Given the description of an element on the screen output the (x, y) to click on. 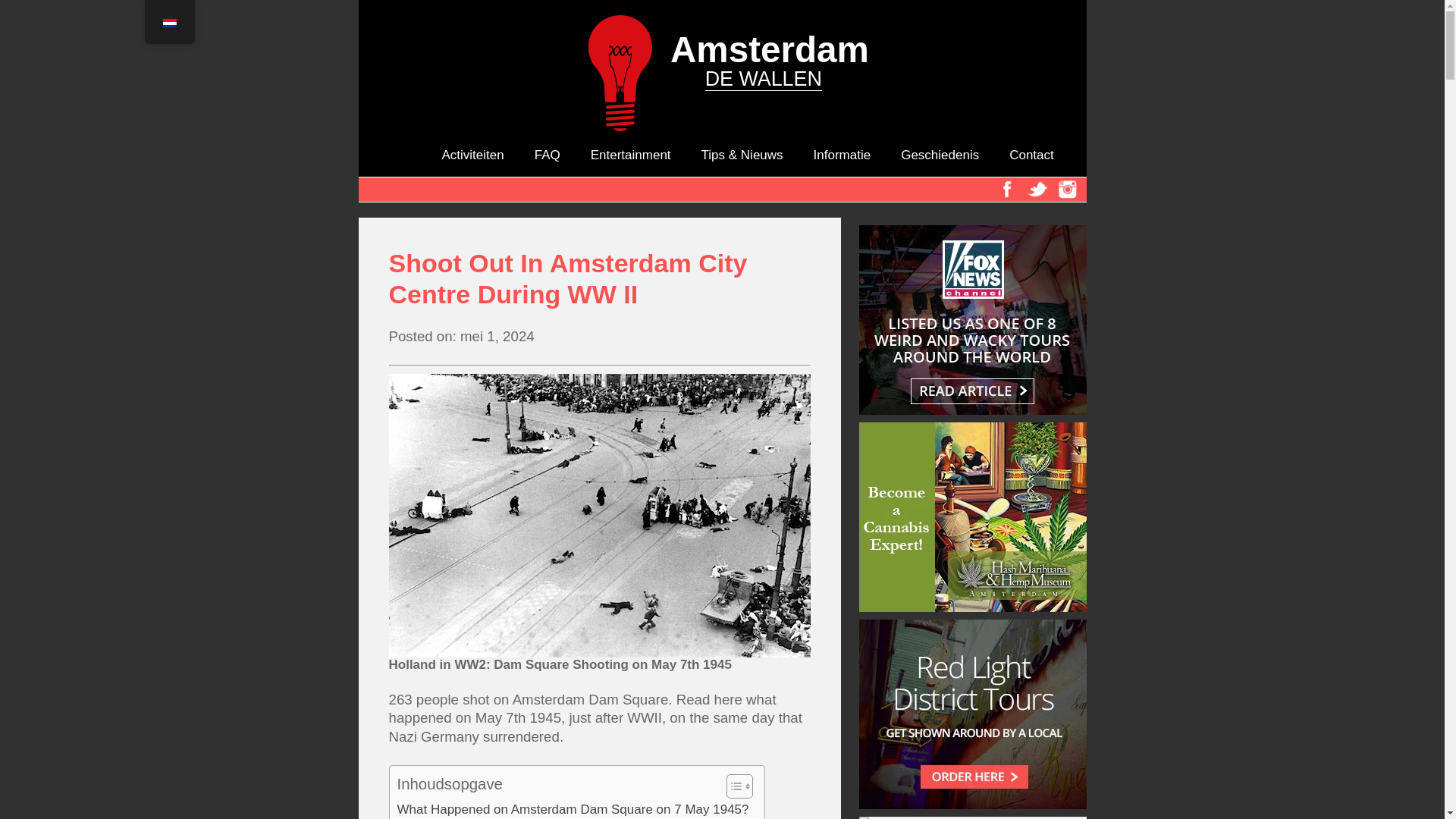
What Happened on Amsterdam Dam Square on 7 May 1945? (573, 809)
Entertainment (631, 155)
Contact (1031, 155)
Activiteiten (472, 155)
What Happened on Amsterdam Dam Square on 7 May 1945? (573, 809)
Geschiedenis (939, 155)
Shoot Out In Amsterdam City Centre During WW II (598, 279)
FAQ (547, 155)
Informatie (841, 155)
